Given the description of an element on the screen output the (x, y) to click on. 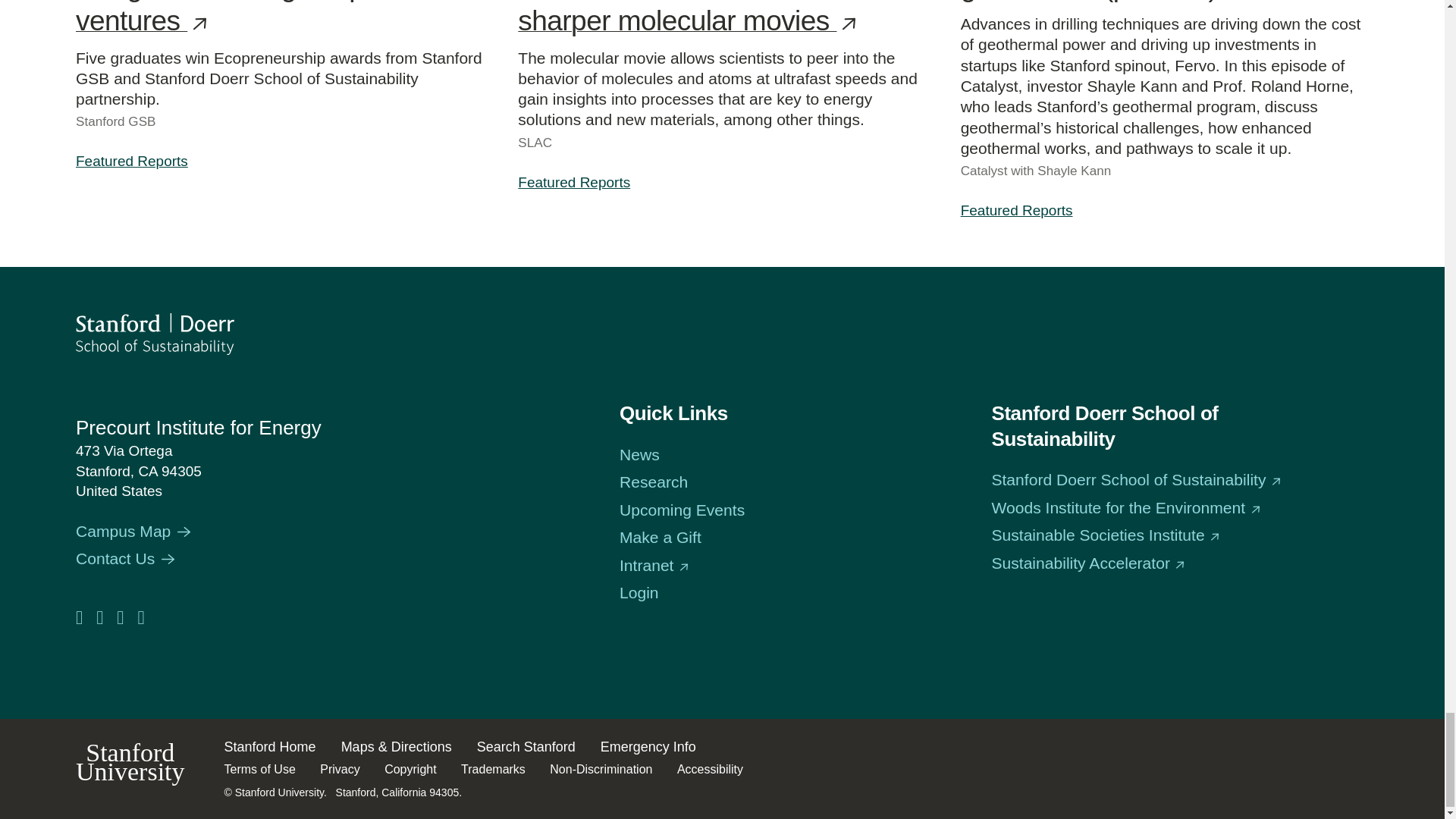
Terms of use for sites (259, 768)
Report alleged copyright infringement (409, 768)
Privacy and cookie policy (339, 768)
Ownership and use of Stanford trademarks and images (493, 768)
Report web accessibility issues (709, 768)
Non-discrimination policy (601, 768)
